Given the description of an element on the screen output the (x, y) to click on. 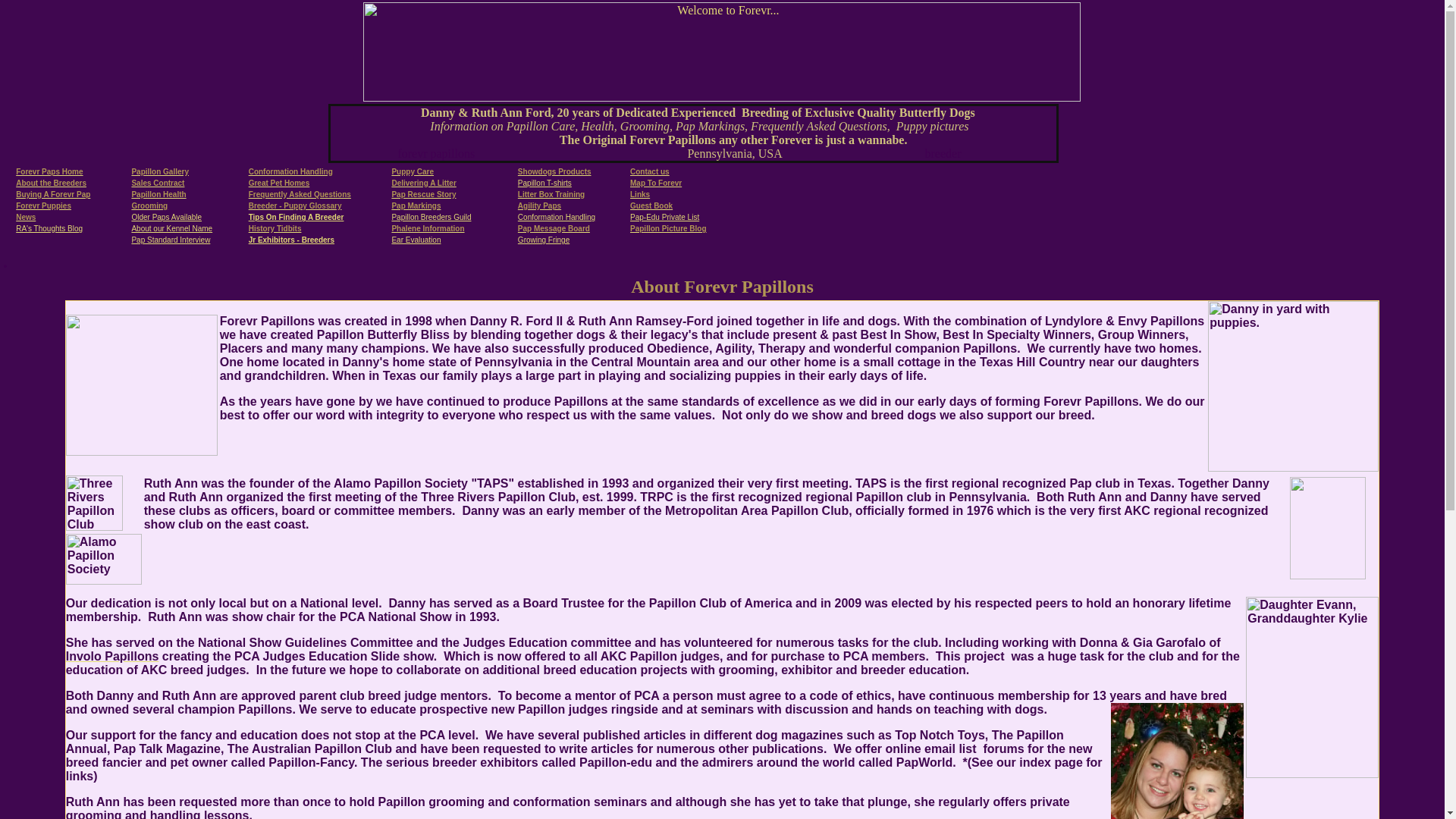
Great Pet Homes (279, 181)
Guest Book (651, 204)
Papillon Breeders Guild (430, 216)
Jr Exhibitors - Breeders (291, 239)
News (25, 216)
Puppy Care (412, 169)
About the Breeders (50, 181)
Buying A Forevr Pap (53, 194)
Sales Contract (157, 181)
History Tidbits (274, 226)
Conformation Handling (290, 169)
Agility Paps (539, 205)
Pap Message Board (553, 226)
Grooming (149, 205)
Showdogs Products (554, 169)
